Given the description of an element on the screen output the (x, y) to click on. 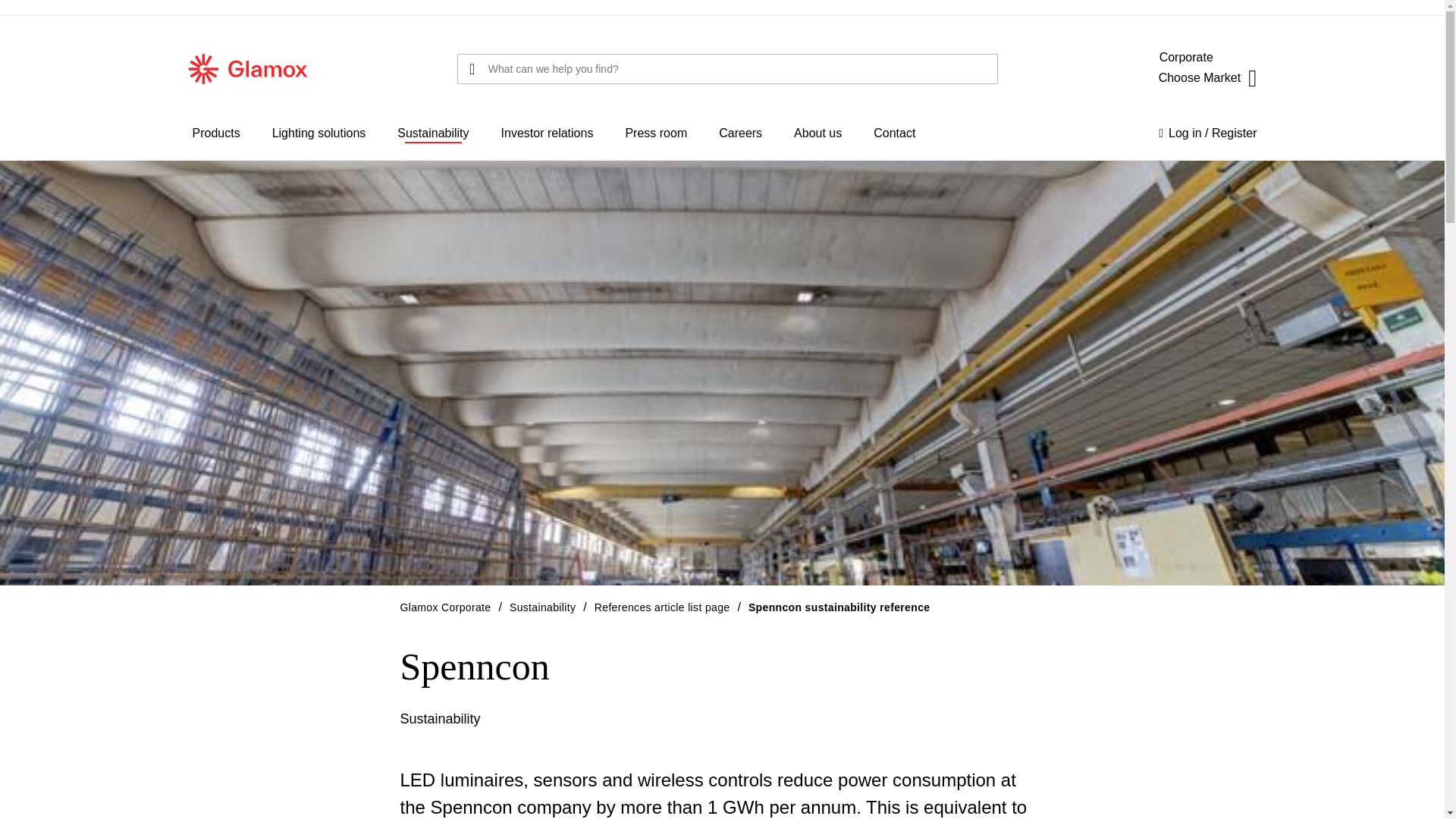
Glamox Corporate (446, 607)
Careers (740, 133)
References article list page (662, 607)
Change Password (1216, 154)
Login (1207, 132)
Lighting solutions (318, 133)
Press room (655, 133)
Contact (894, 133)
Choose Market (1207, 77)
Logout (1186, 154)
